Given the description of an element on the screen output the (x, y) to click on. 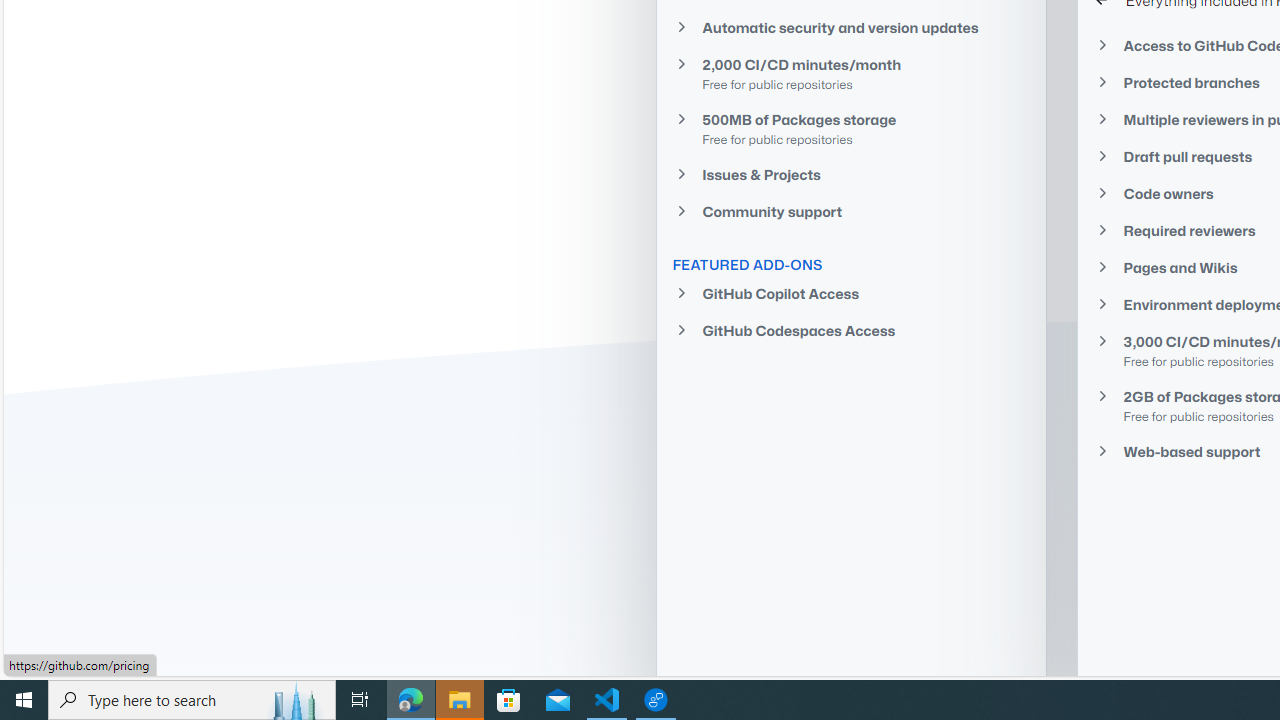
500MB of Packages storageFree for public repositories (851, 128)
Issues & Projects (851, 173)
Community support (851, 211)
Automatic security and version updates (851, 27)
2,000 CI/CD minutes/month Free for public repositories (851, 74)
GitHub Codespaces Access (851, 330)
GitHub Copilot Access (851, 294)
500MB of Packages storage Free for public repositories (851, 128)
Community support (851, 211)
GitHub Codespaces Access (851, 330)
2,000 CI/CD minutes/monthFree for public repositories (851, 73)
Automatic security and version updates (851, 26)
GitHub Copilot Access (851, 293)
Issues & Projects (851, 174)
